Given the description of an element on the screen output the (x, y) to click on. 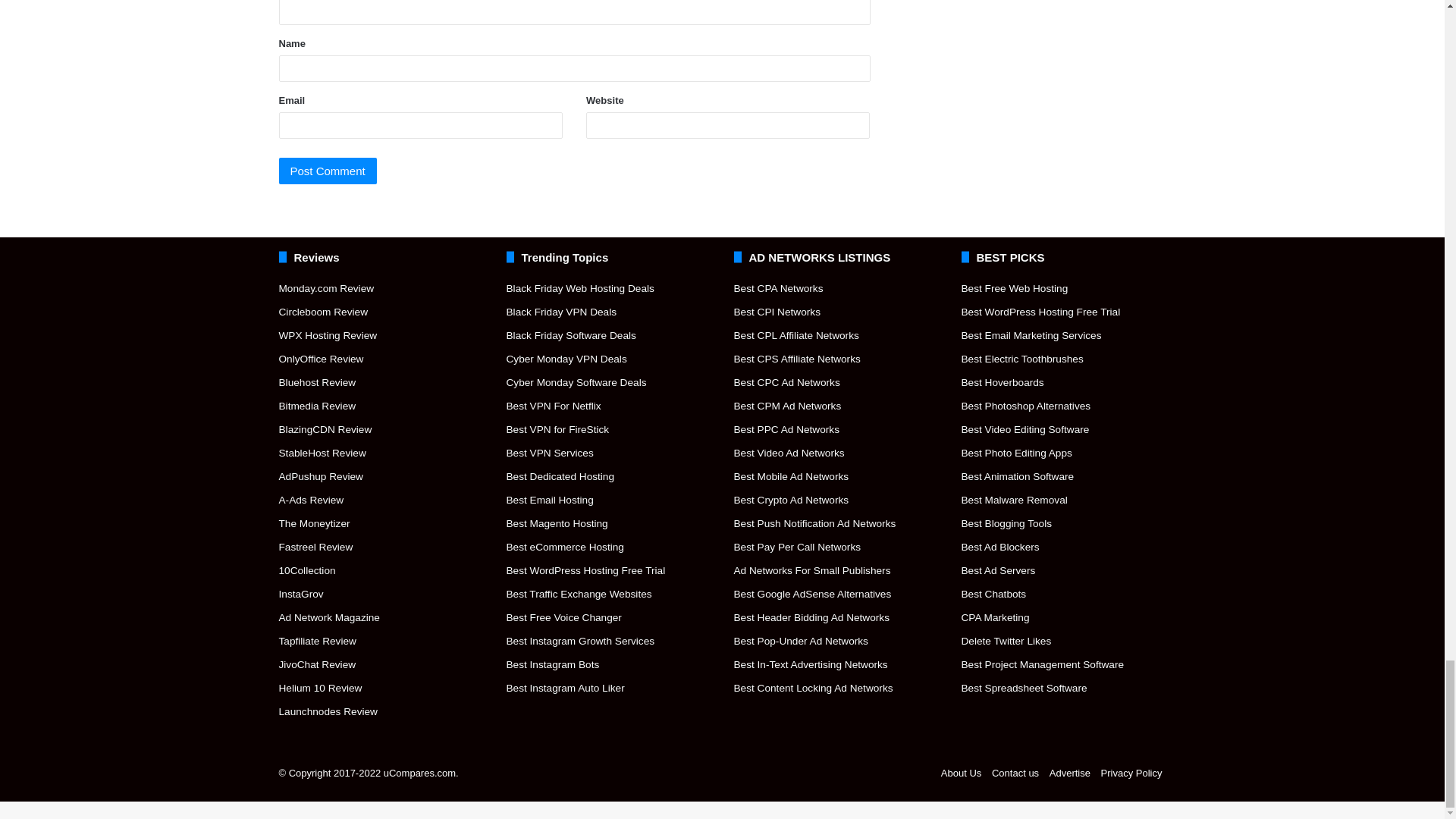
Post Comment (328, 171)
